Given the description of an element on the screen output the (x, y) to click on. 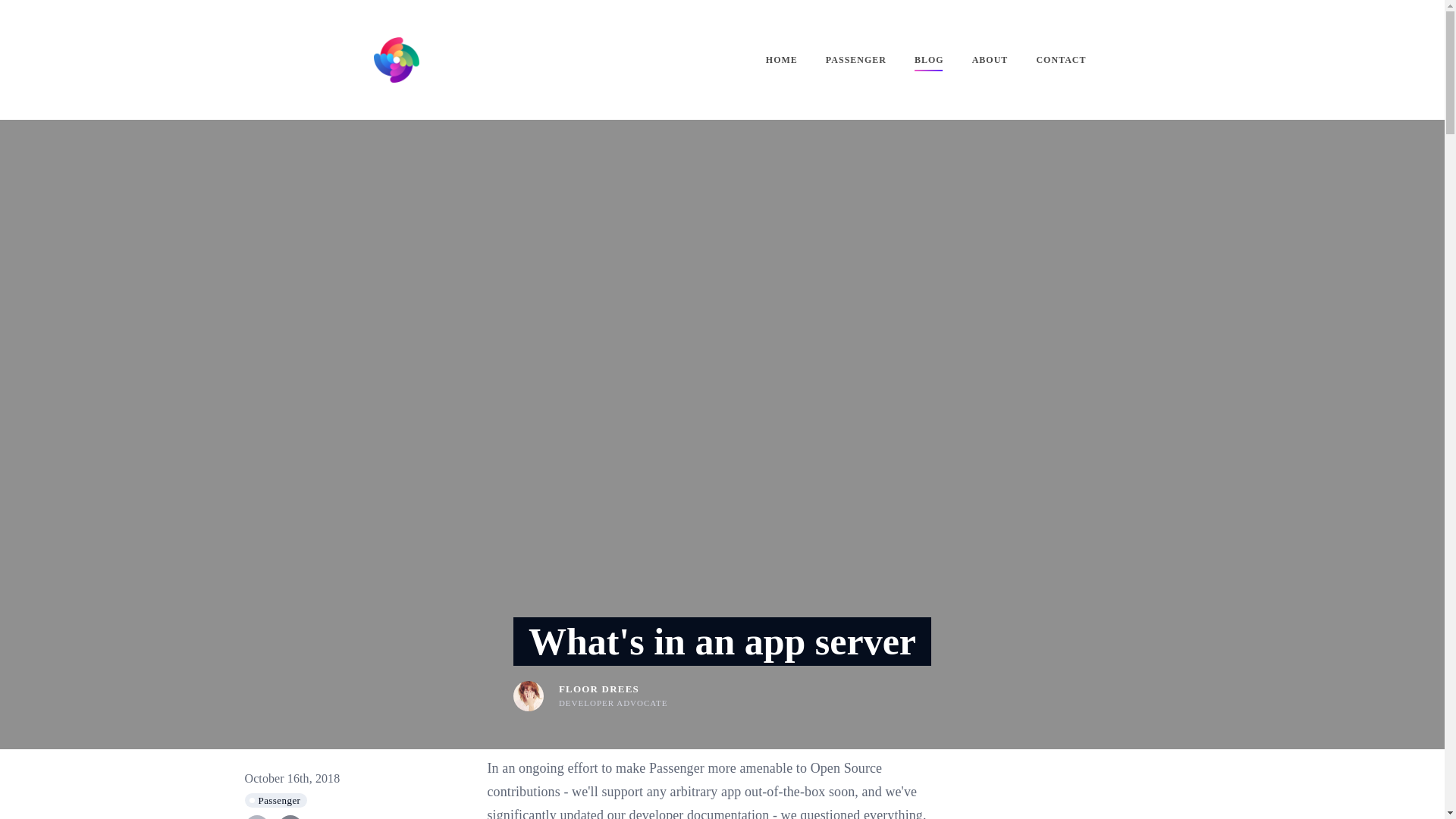
Passenger (275, 800)
CONTACT (1060, 59)
ABOUT (990, 59)
PASSENGER (855, 59)
FLOOR DREES (599, 688)
What's in an app server (721, 641)
